Given the description of an element on the screen output the (x, y) to click on. 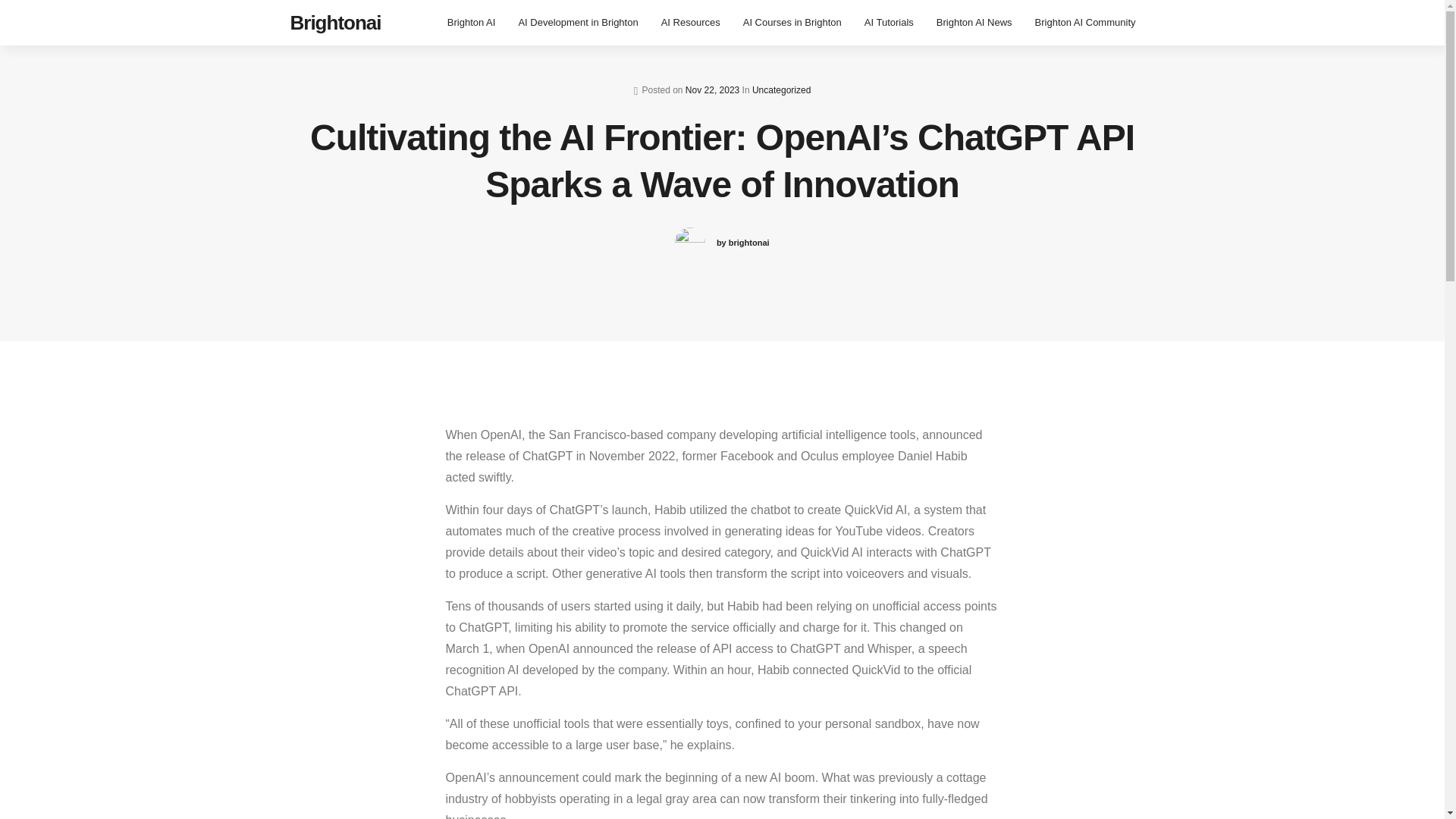
AI Courses in Brighton (792, 22)
Brighton AI (470, 22)
AI Resources (690, 22)
AI Development in Brighton (577, 22)
Brightonai (334, 22)
